Given the description of an element on the screen output the (x, y) to click on. 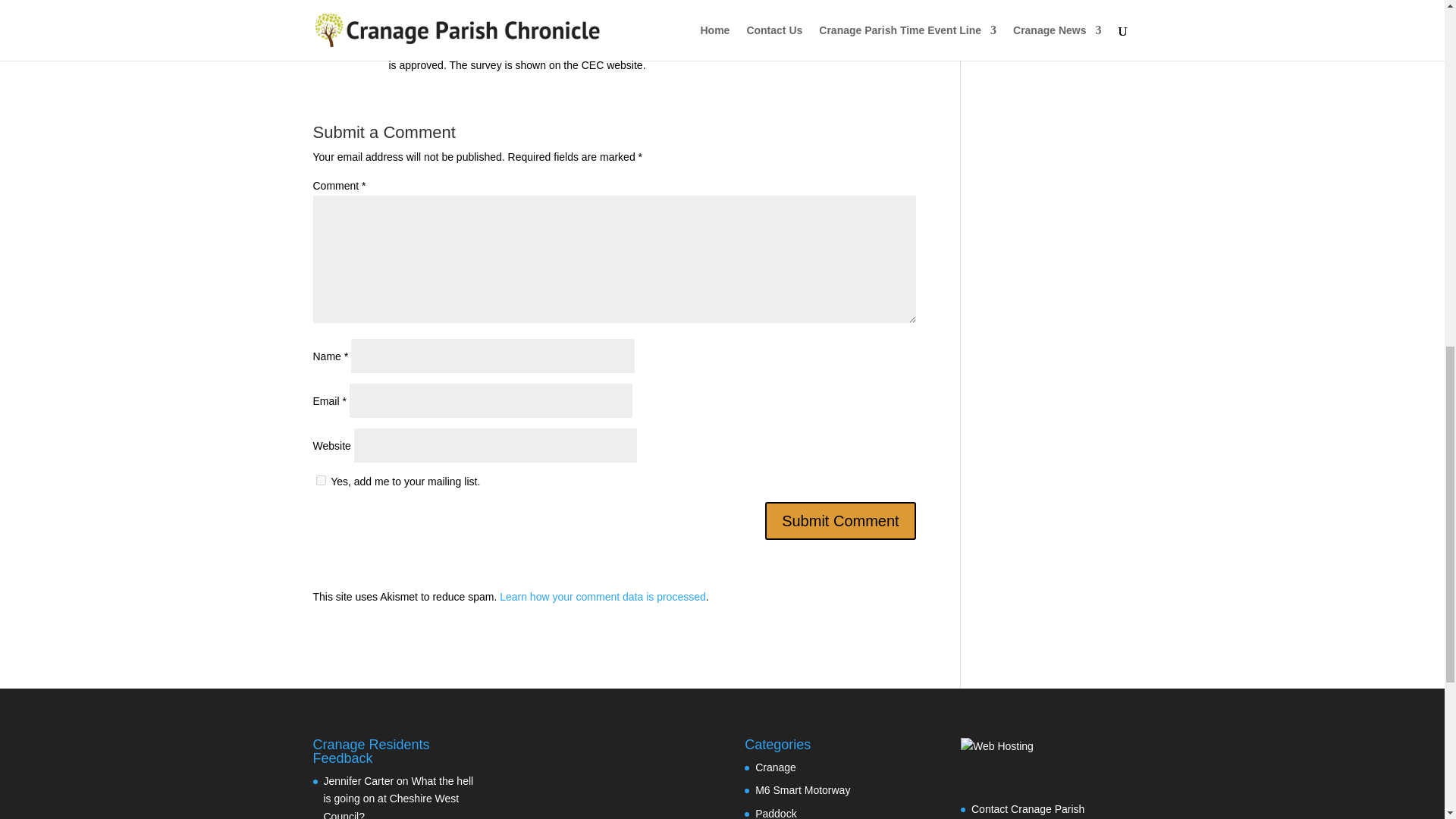
Contact Cranage Parish Chronicle (1027, 811)
Cranage (775, 767)
Learn how your comment data is processed (602, 596)
Paddock (775, 813)
1 (319, 480)
Submit Comment (840, 520)
M6 Smart Motorway (802, 789)
Submit Comment (840, 520)
What the hell is going on at Cheshire West Council? (398, 796)
